Given the description of an element on the screen output the (x, y) to click on. 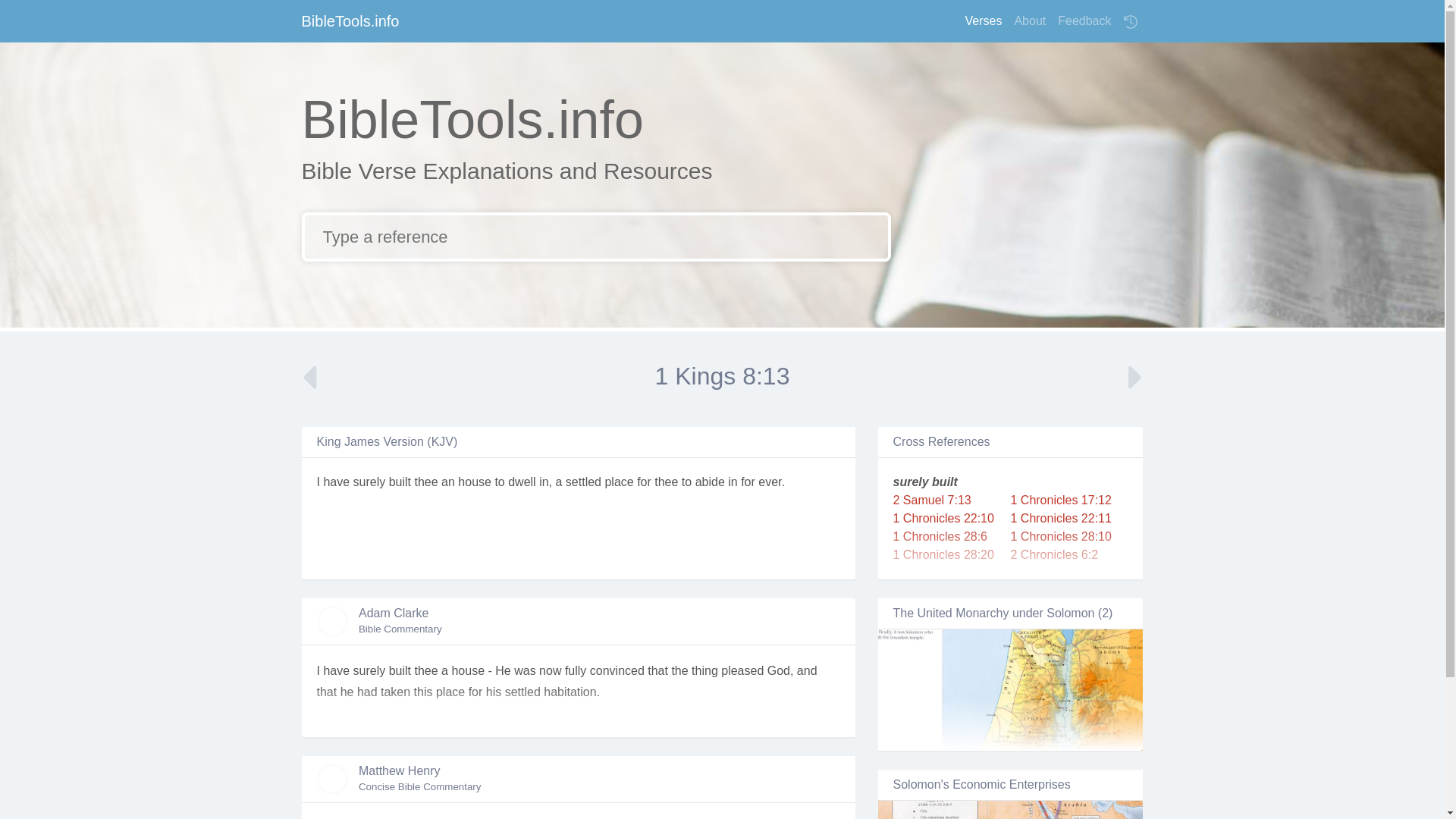
an (447, 481)
house (475, 481)
BibleTools.info (349, 20)
dwell (521, 481)
have (336, 481)
Verses (982, 20)
built (399, 481)
place (618, 481)
for (748, 481)
for (643, 481)
